Given the description of an element on the screen output the (x, y) to click on. 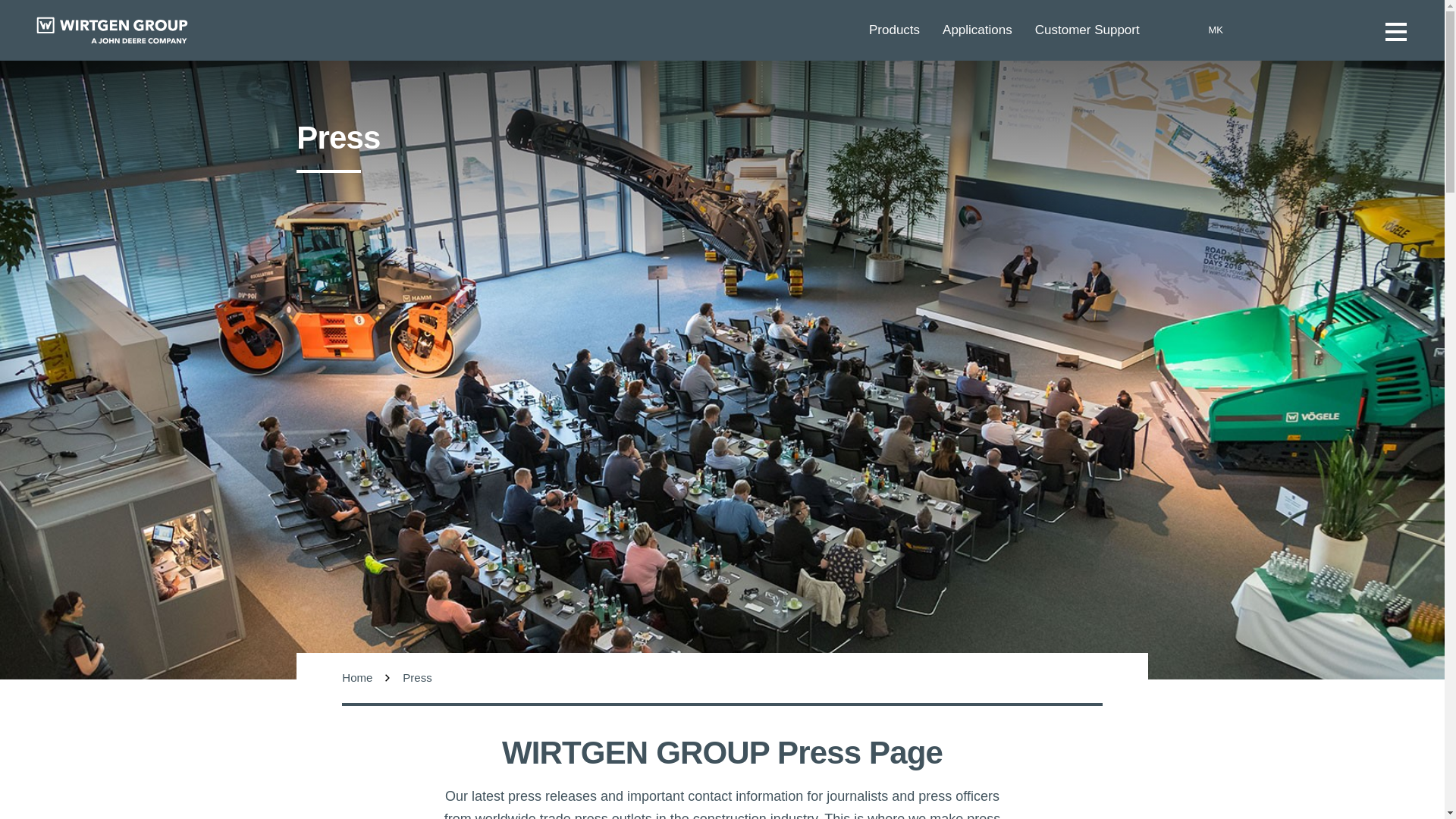
Products (905, 29)
Customer Support (1098, 29)
Products (905, 29)
Applications (988, 29)
Applications (988, 29)
